Given the description of an element on the screen output the (x, y) to click on. 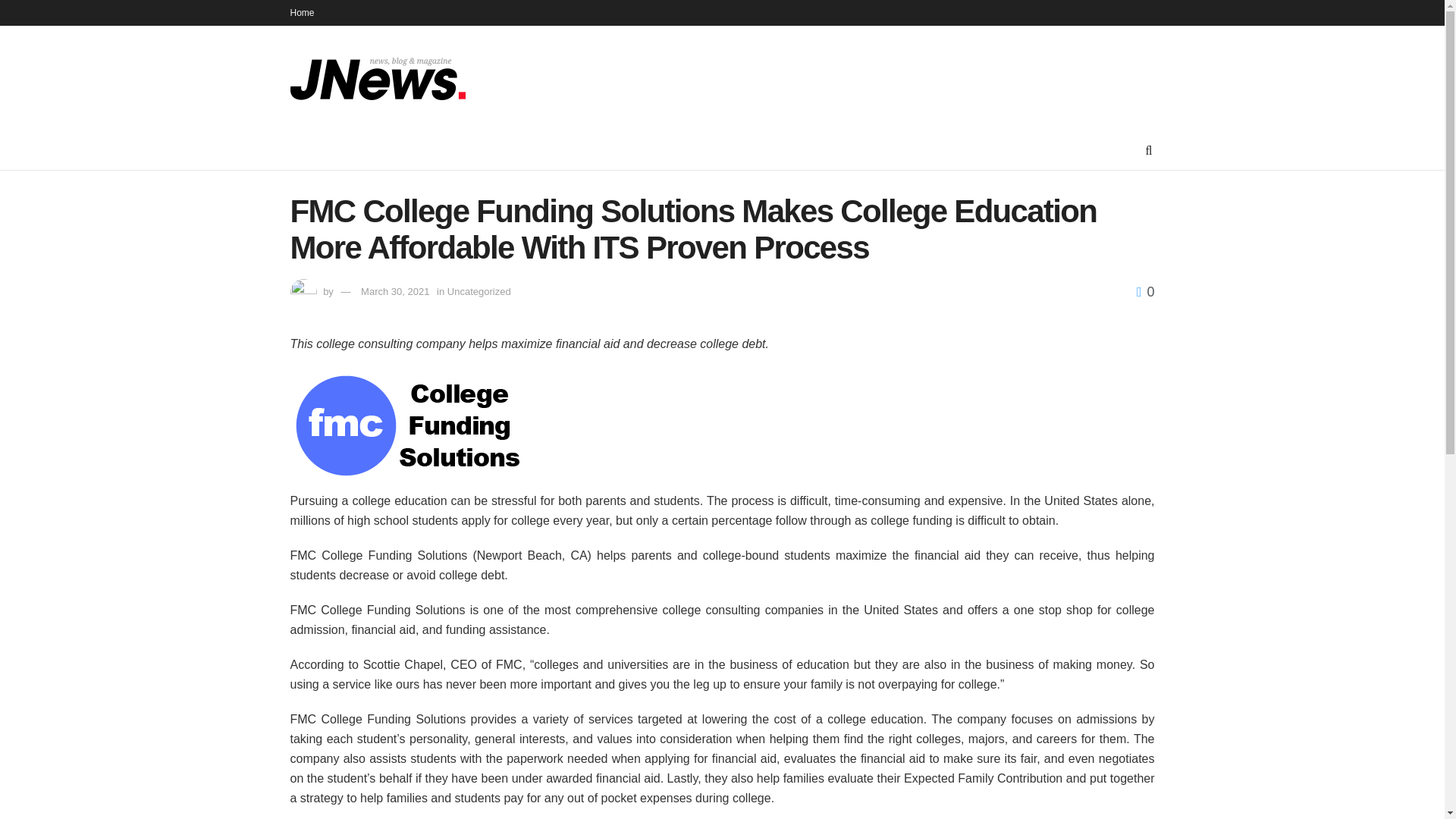
March 30, 2021 (395, 291)
0 (1145, 291)
Home (301, 12)
